Given the description of an element on the screen output the (x, y) to click on. 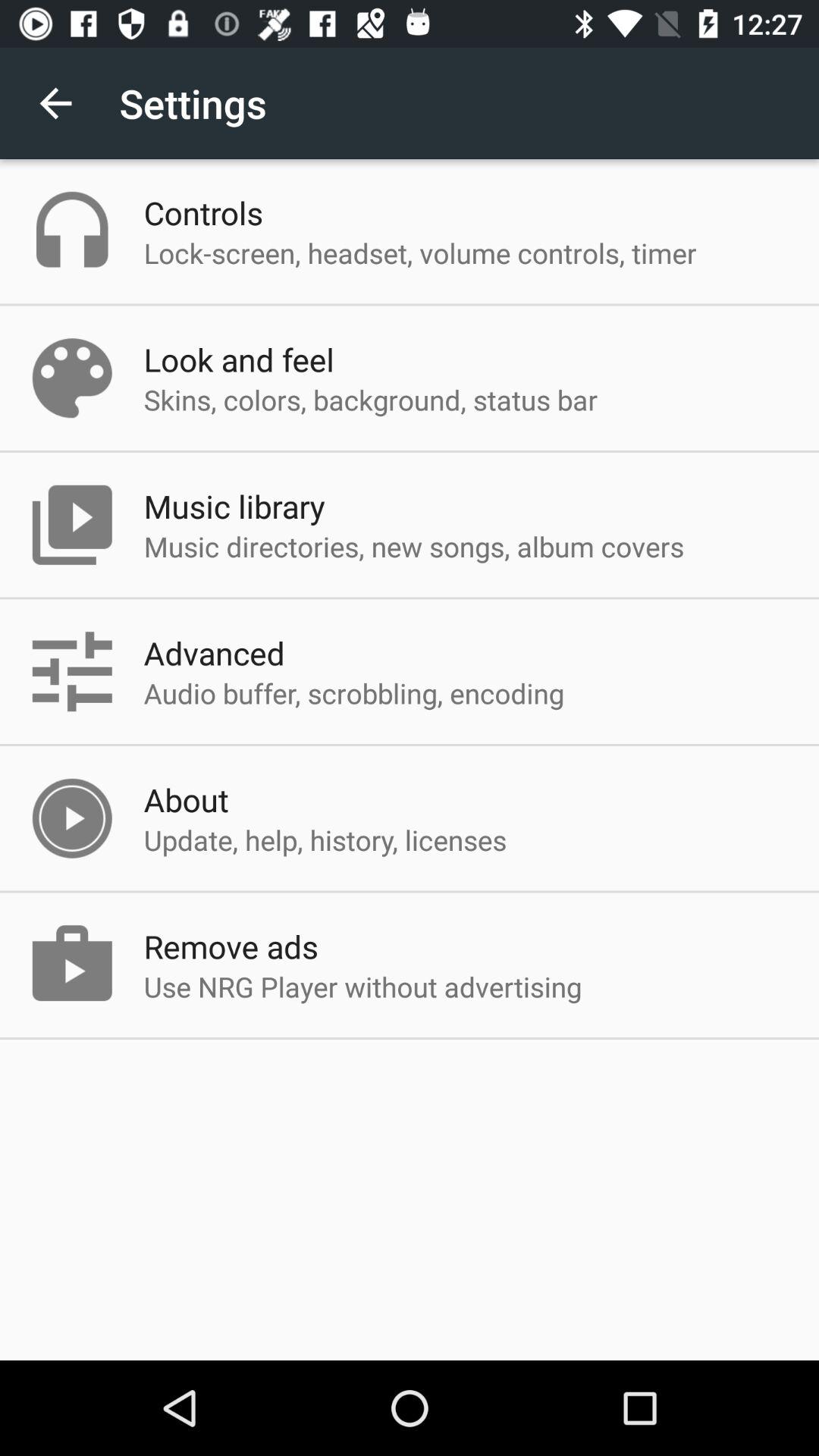
turn on the use nrg player app (362, 986)
